Given the description of an element on the screen output the (x, y) to click on. 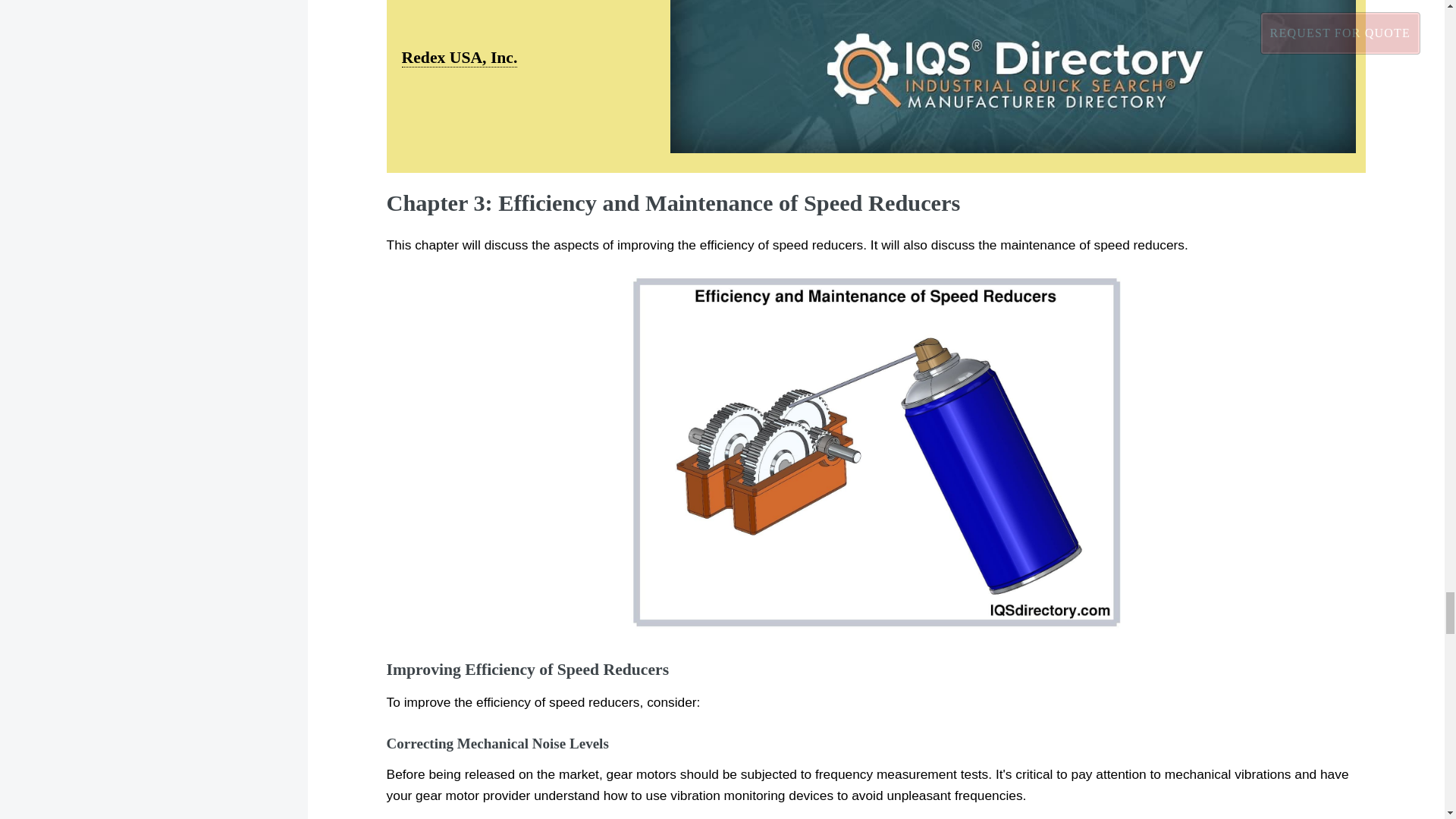
Redex USA, Inc. (459, 57)
